Given the description of an element on the screen output the (x, y) to click on. 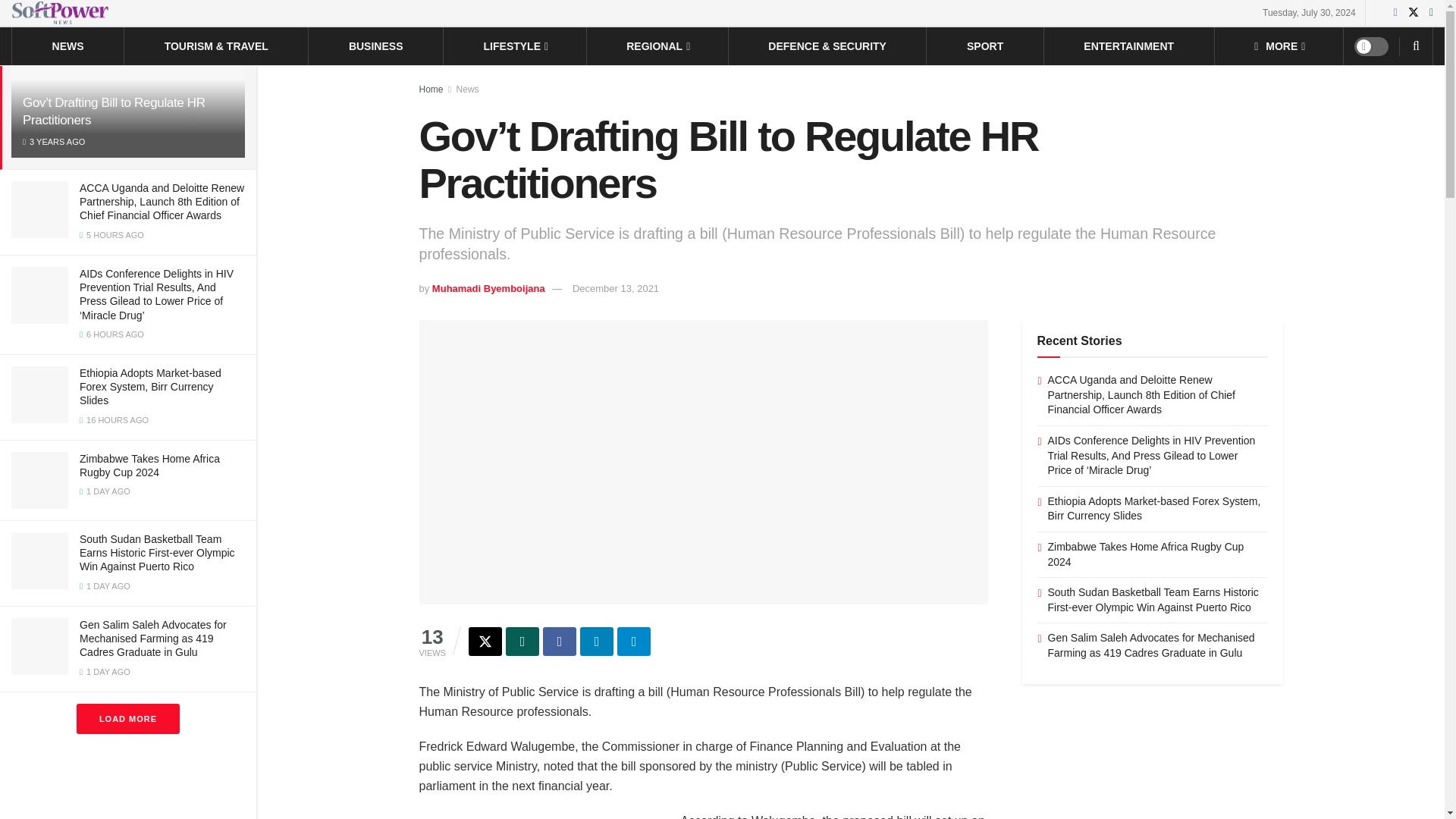
ENTERTAINMENT (1128, 46)
NEWS (68, 46)
LOAD MORE (128, 718)
LIFESTYLE (515, 46)
BUSINESS (376, 46)
MORE (1278, 46)
Zimbabwe Takes Home Africa Rugby Cup 2024 (149, 465)
SPORT (984, 46)
REGIONAL (656, 46)
